Given the description of an element on the screen output the (x, y) to click on. 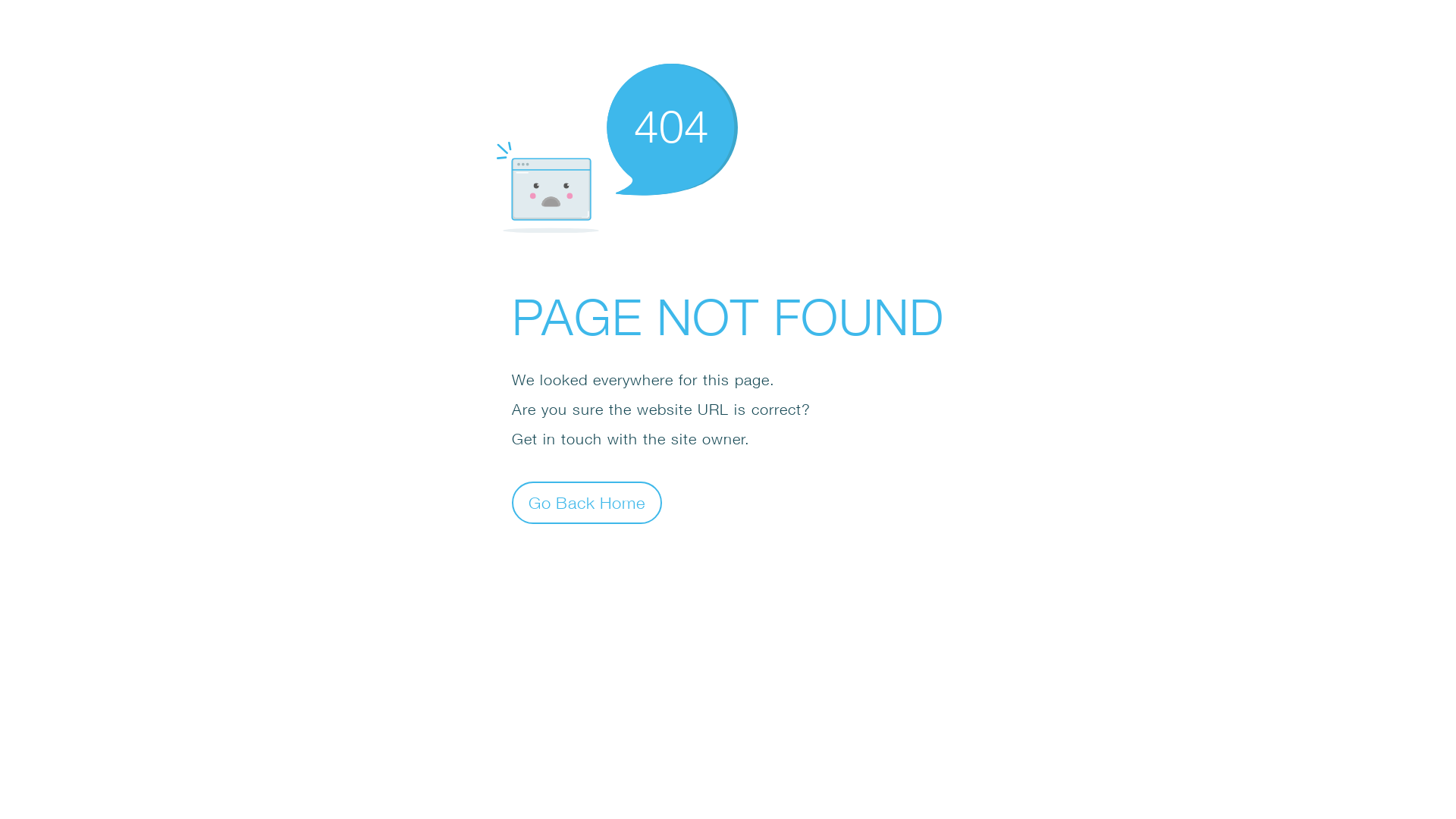
Go Back Home Element type: text (586, 502)
